Given the description of an element on the screen output the (x, y) to click on. 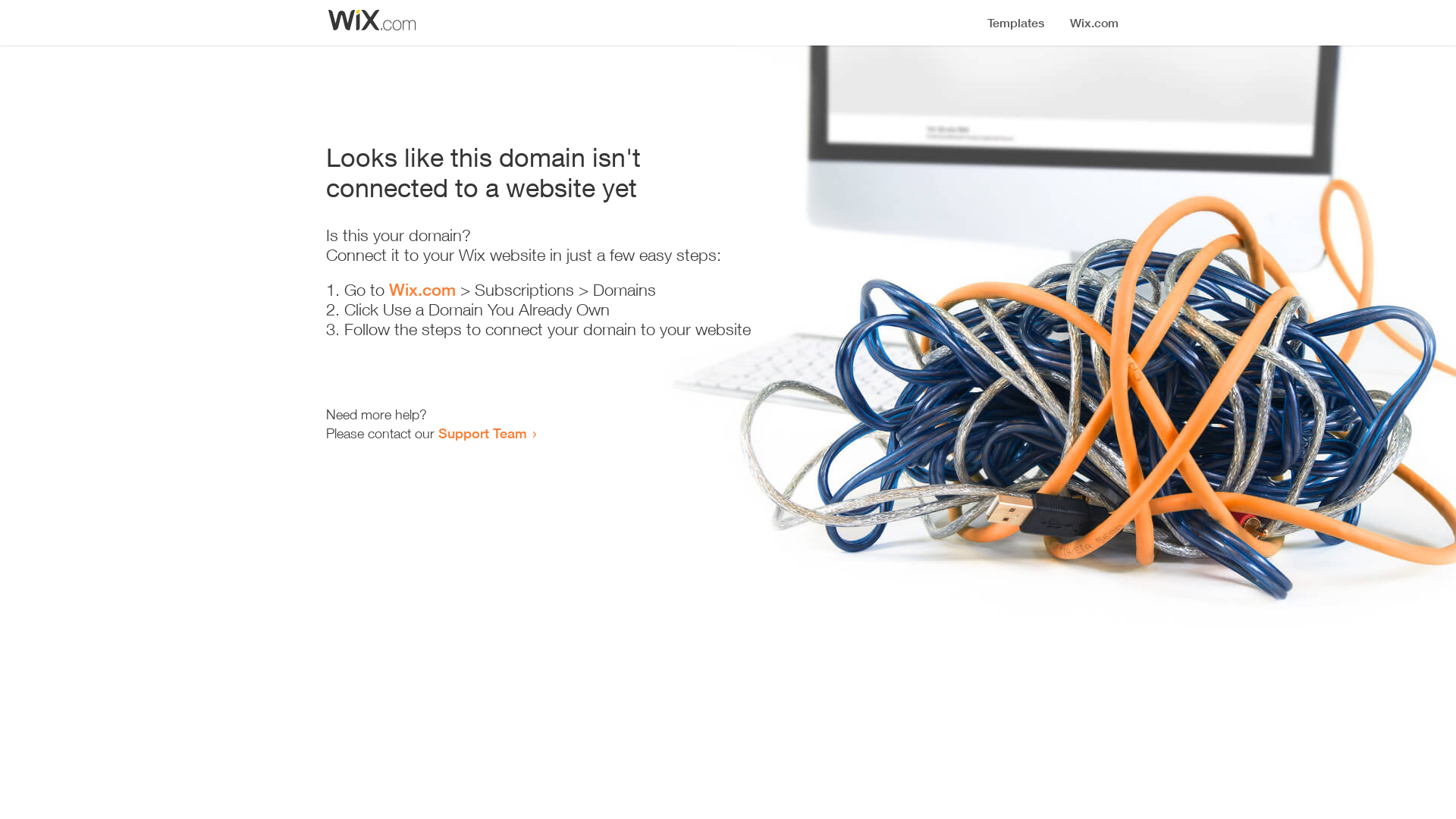
Support Team Element type: text (482, 432)
Wix.com Element type: text (422, 289)
